Given the description of an element on the screen output the (x, y) to click on. 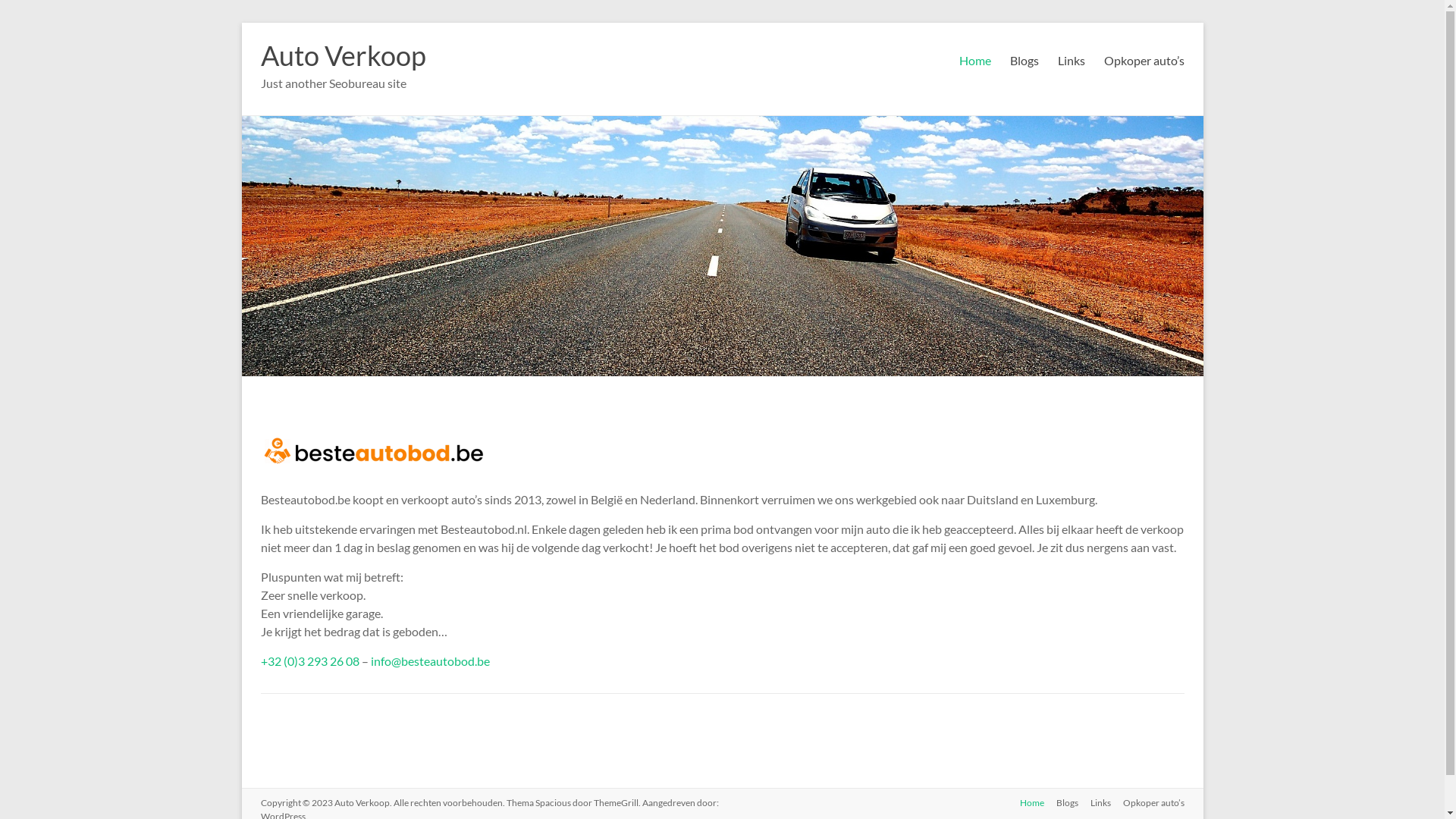
Links Element type: text (1094, 804)
Spacious Element type: text (553, 802)
Links Element type: text (1070, 60)
Blogs Element type: text (1024, 60)
Blogs Element type: text (1060, 804)
Auto Verkoop Element type: text (343, 55)
Home Element type: text (974, 60)
Auto Verkoop Element type: text (361, 802)
Ga naar inhoud Element type: text (241, 21)
info@besteautobod.be Element type: text (429, 660)
Home Element type: text (1025, 804)
+32 (0)3 293 26 08 Element type: text (309, 660)
